Given the description of an element on the screen output the (x, y) to click on. 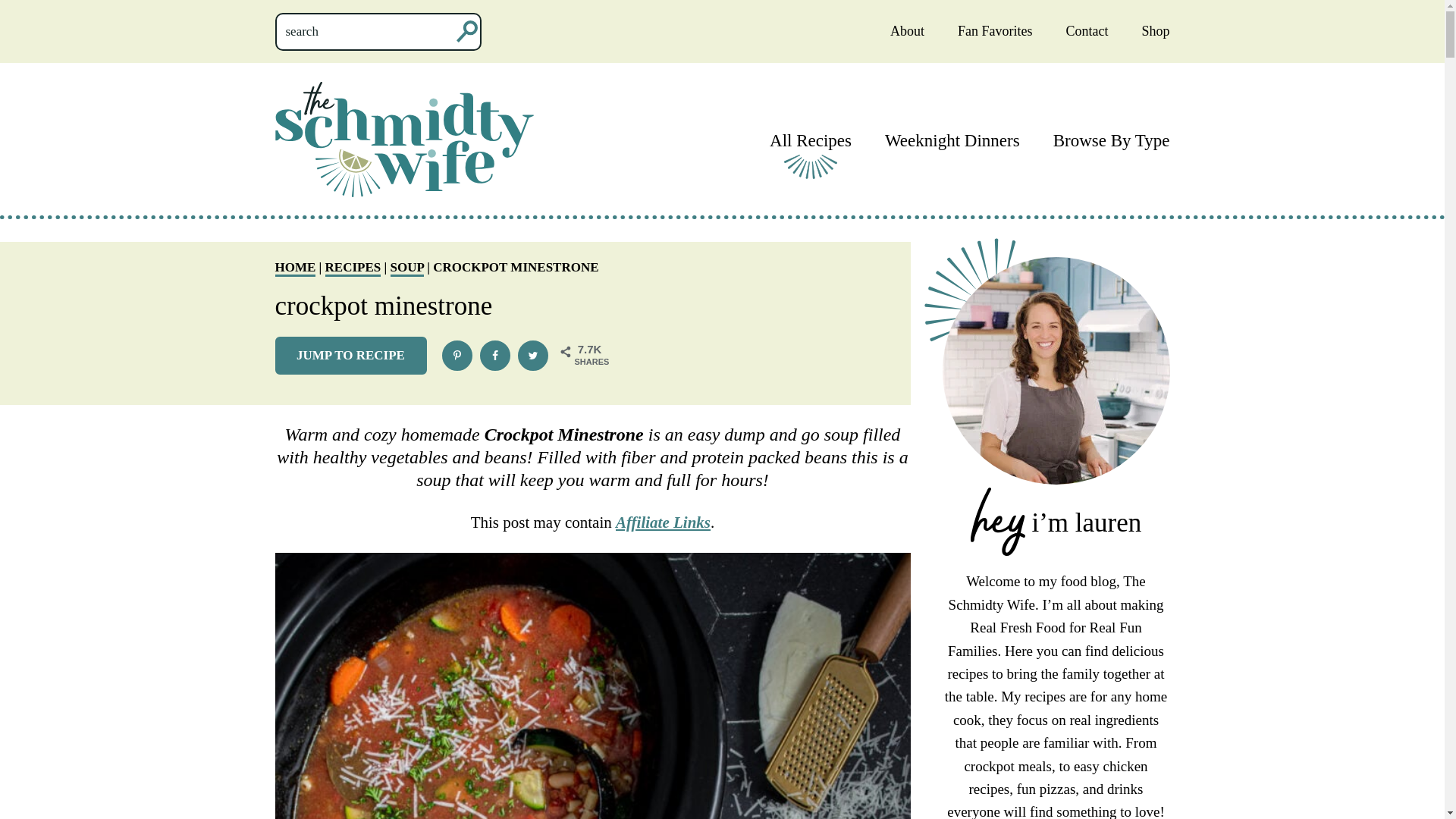
Save to Pinterest (456, 355)
Share on Twitter (531, 355)
All Recipes (810, 140)
Contact (1086, 30)
Shop (1155, 30)
Fan Favorites (995, 30)
About (906, 30)
Weeknight Dinners (952, 140)
Browse By Type (1111, 140)
Go (103, 18)
Share on Facebook (494, 355)
